Given the description of an element on the screen output the (x, y) to click on. 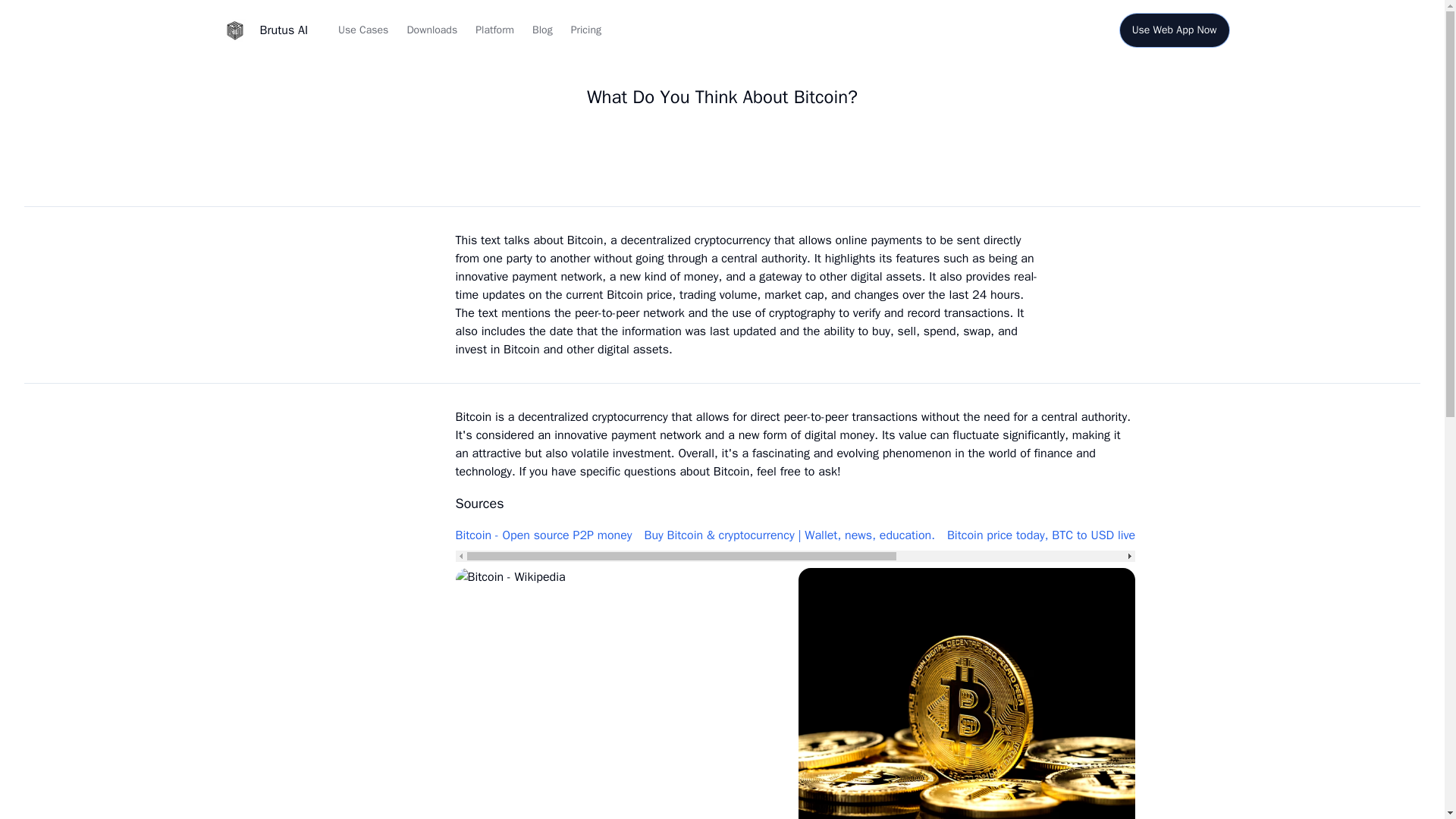
Use Cases (362, 30)
Platform (494, 30)
Brutus AI (261, 30)
Bitcoin - Open source P2P money (542, 535)
Downloads (431, 30)
Use Web App Now (1173, 29)
